Given the description of an element on the screen output the (x, y) to click on. 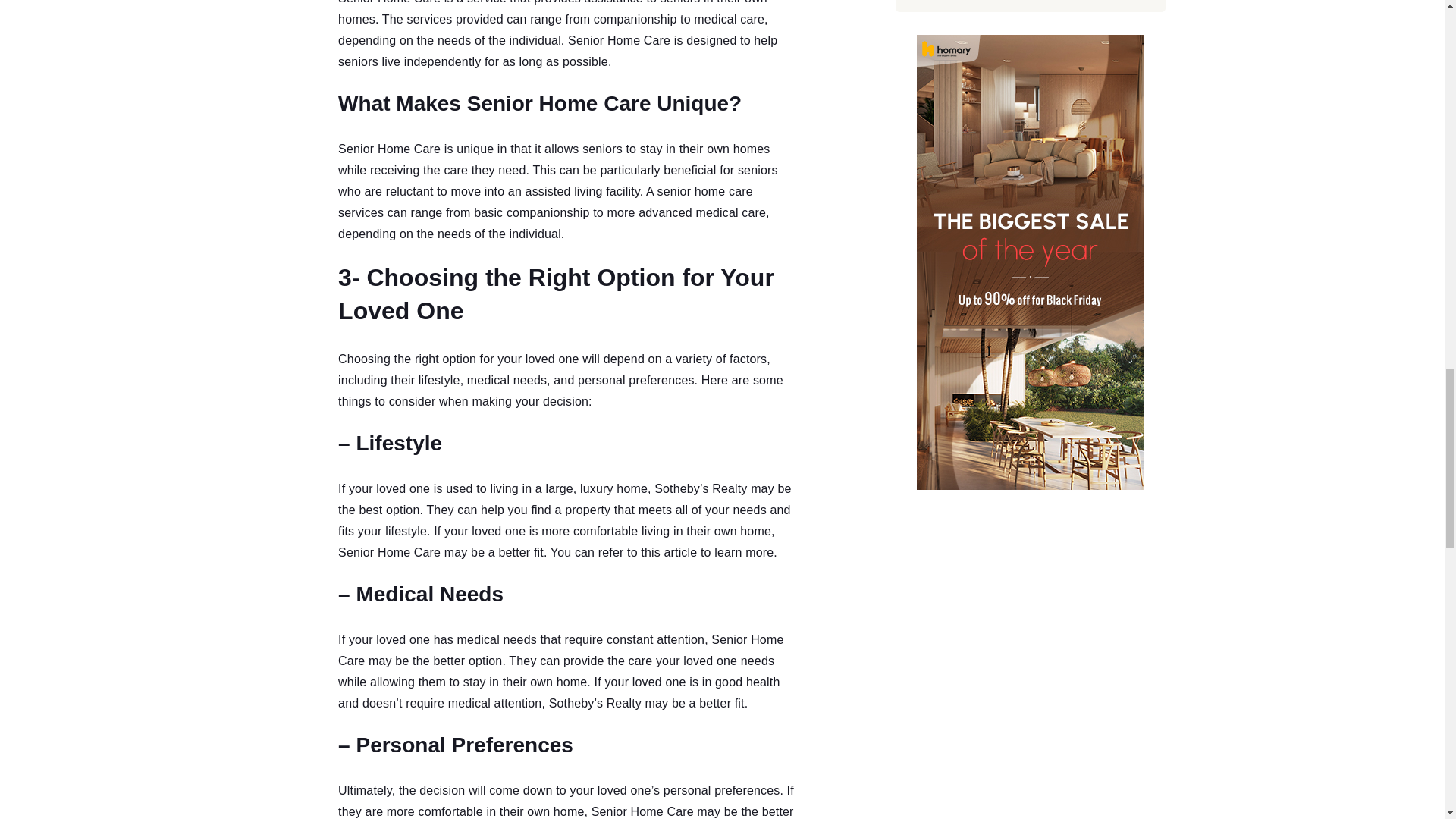
learn more (743, 552)
senior home care (705, 191)
